Given the description of an element on the screen output the (x, y) to click on. 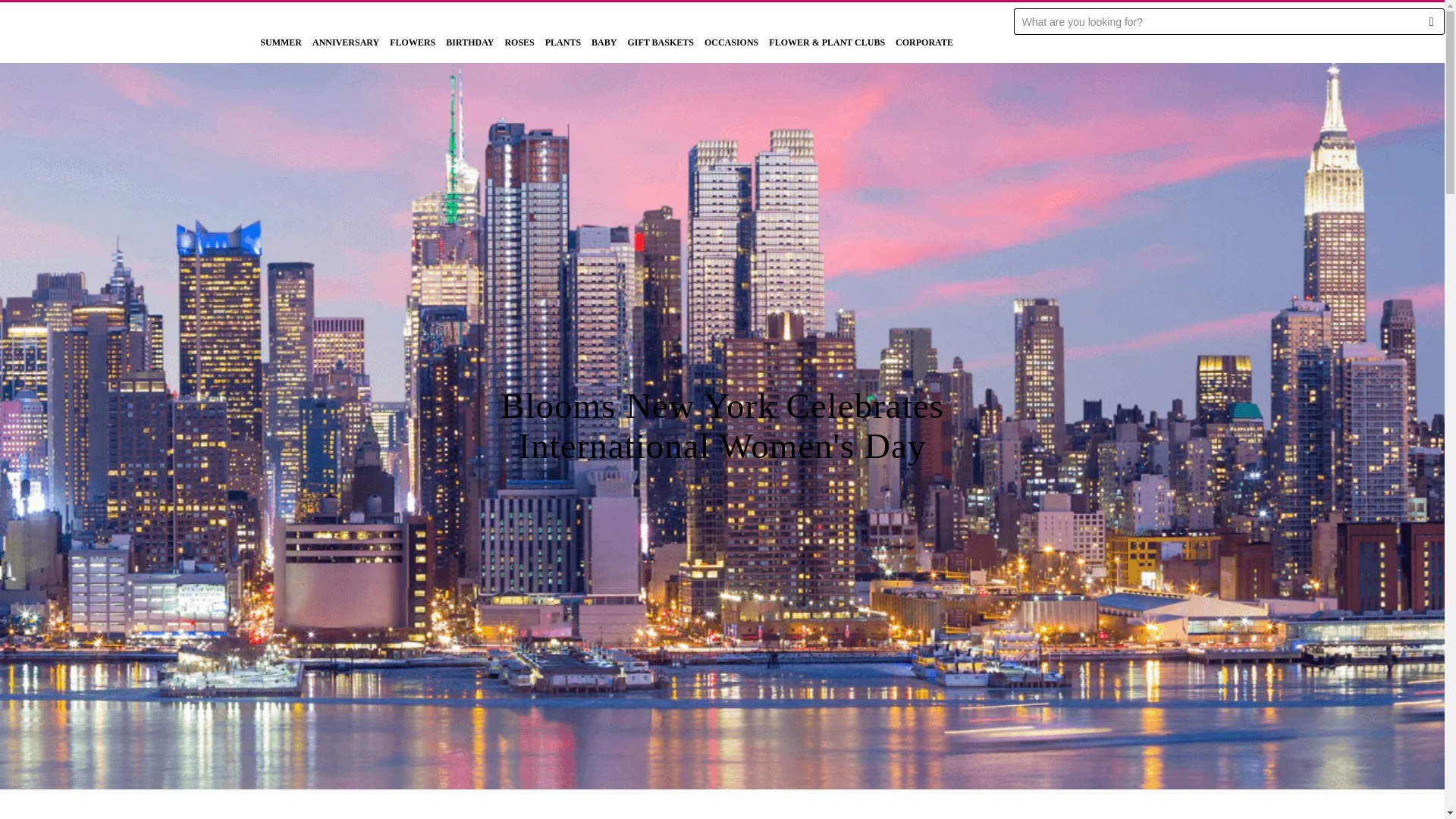
My Account  (1349, 1)
